Given the description of an element on the screen output the (x, y) to click on. 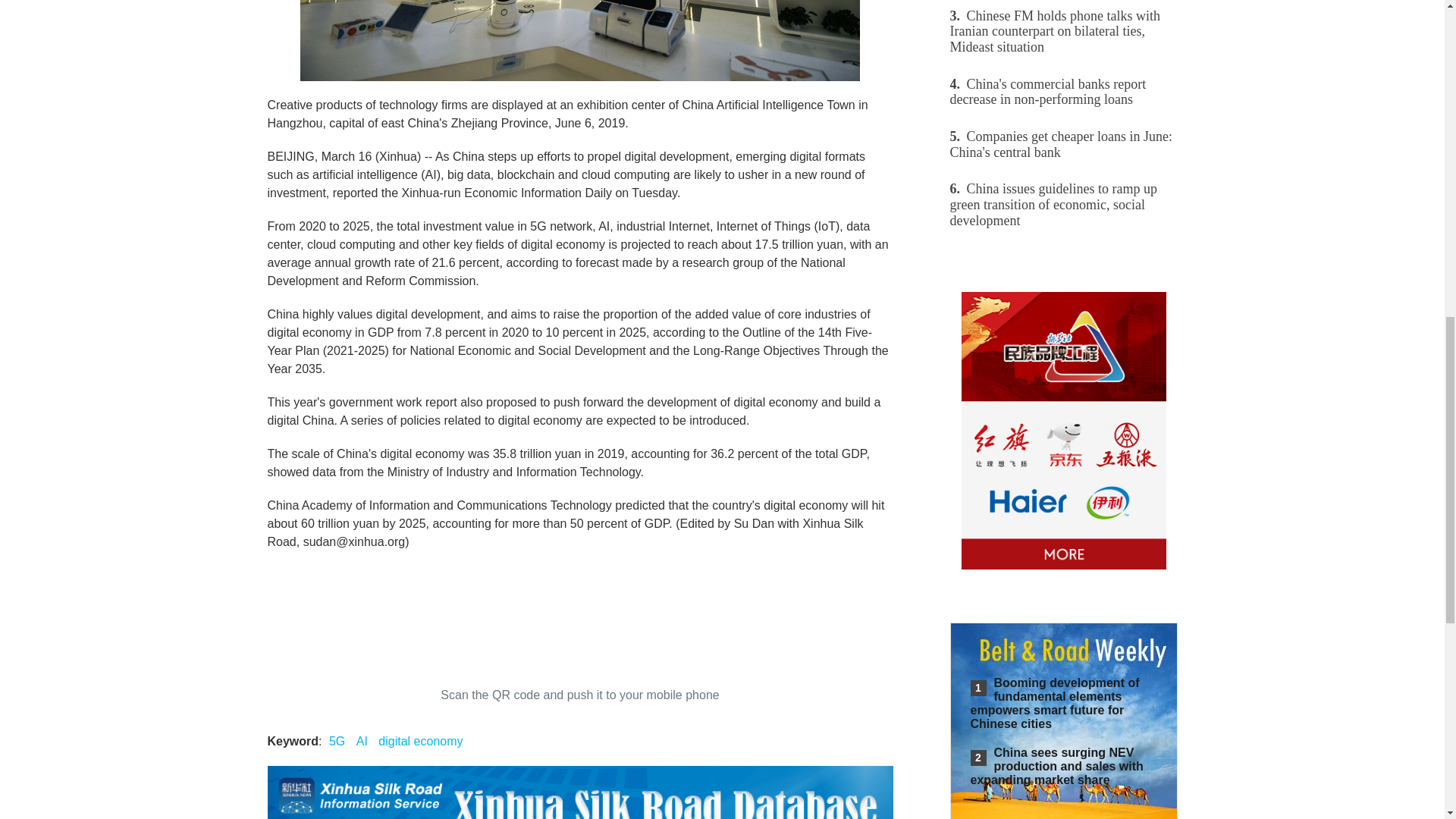
Companies get cheaper loans in June: China's central bank (1062, 143)
1.png (579, 40)
